Given the description of an element on the screen output the (x, y) to click on. 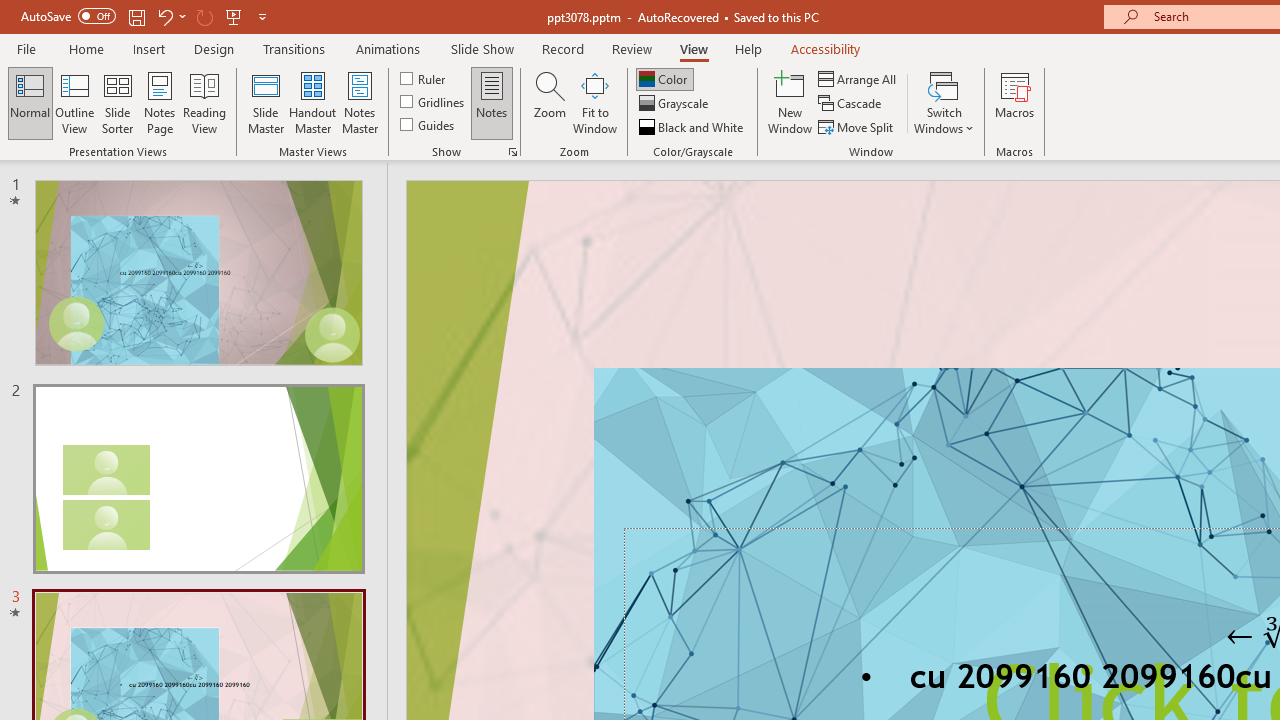
Notes (492, 102)
Move Split (857, 126)
Gridlines (433, 101)
Ruler (423, 78)
Guides (428, 124)
Fit to Window (594, 102)
